Given the description of an element on the screen output the (x, y) to click on. 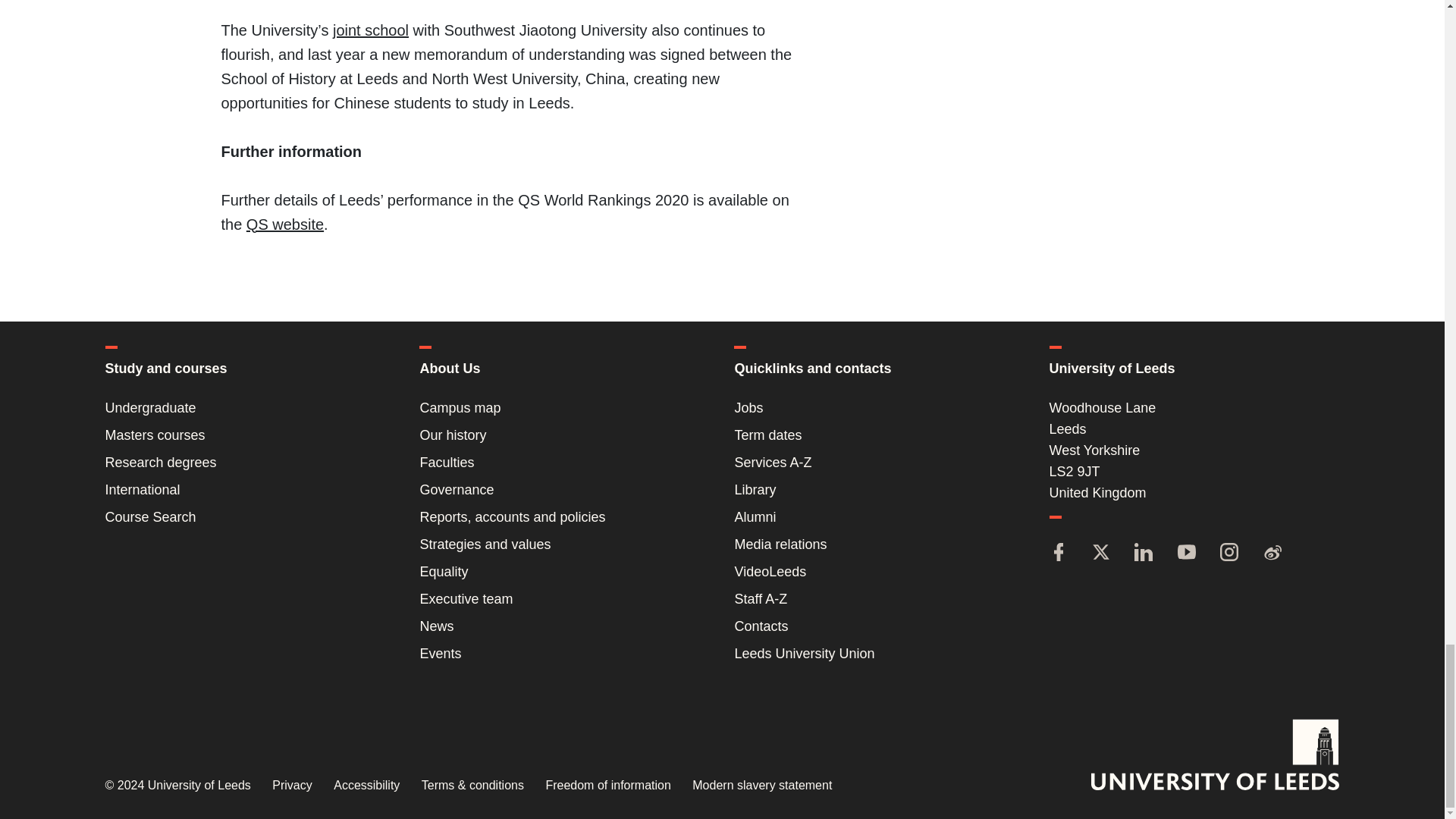
Go to Accessibility page (365, 784)
Go to Modern slavery statement page (762, 784)
Go to Freedom of information page (606, 784)
Go to Privacy page (291, 784)
